Given the description of an element on the screen output the (x, y) to click on. 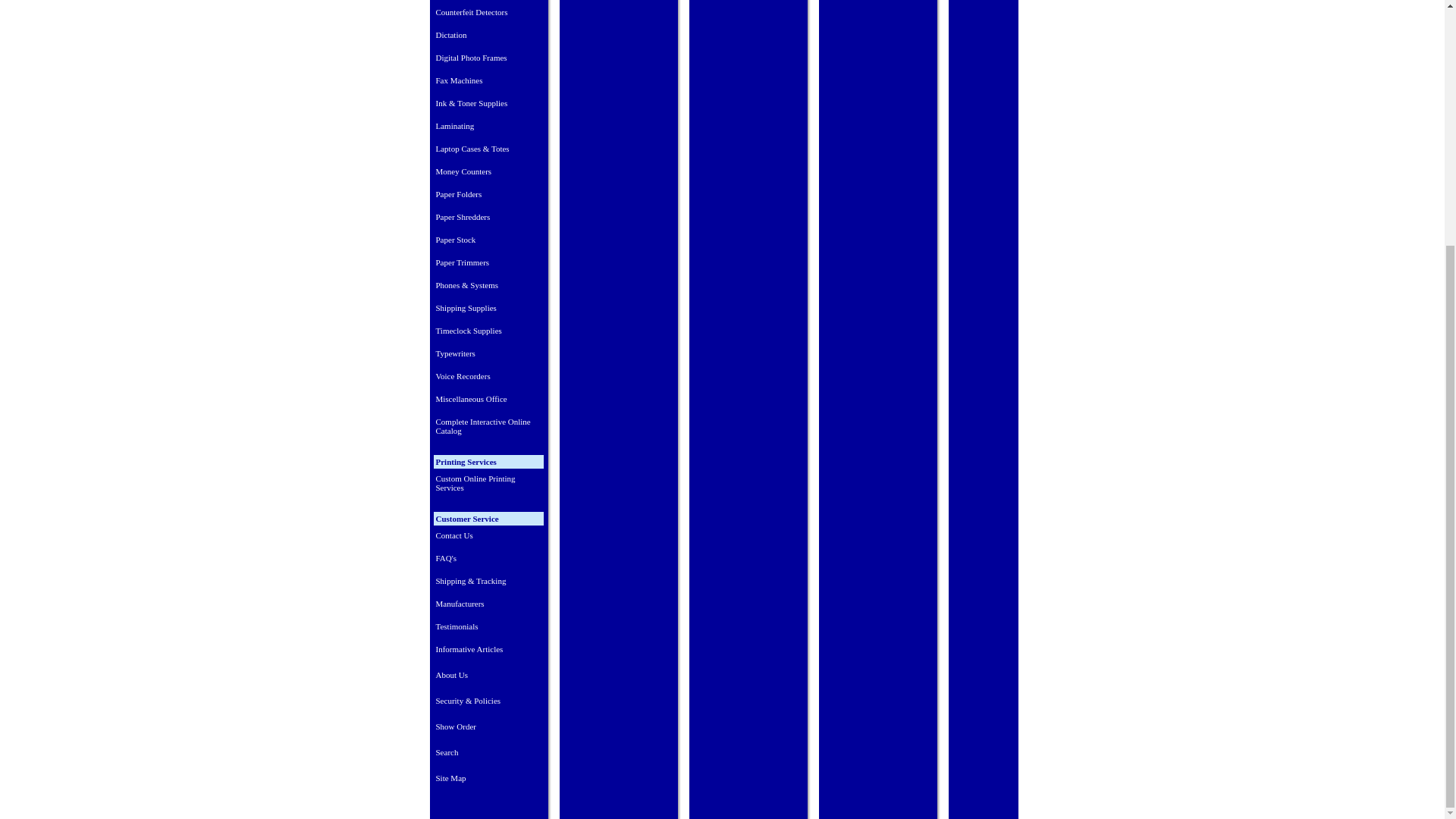
Money Counters (487, 171)
FAQ's (487, 557)
Complete Interactive Online Catalog (487, 426)
Custom Online Printing Services (487, 482)
Testimonials (487, 626)
Laminating (487, 125)
Paper Stock (487, 239)
Paper Shredders (487, 216)
Shipping Supplies (487, 307)
Informative Articles (487, 648)
